Given the description of an element on the screen output the (x, y) to click on. 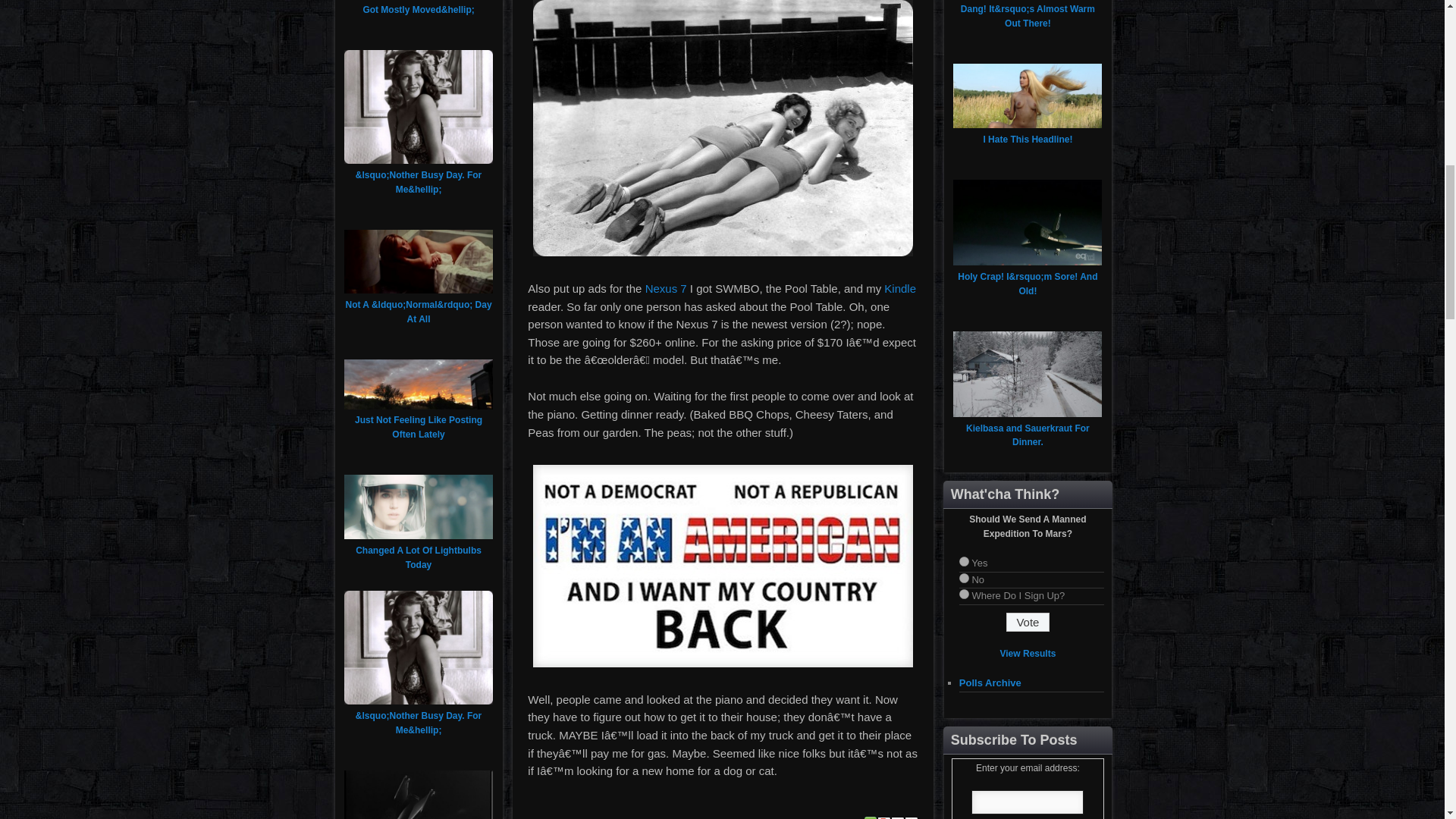
   Vote    (1027, 622)
32 (964, 578)
33 (964, 593)
Kindle (899, 287)
This Could Be Your Grandma! (723, 128)
31 (964, 561)
Nexus 7 (666, 287)
